Given the description of an element on the screen output the (x, y) to click on. 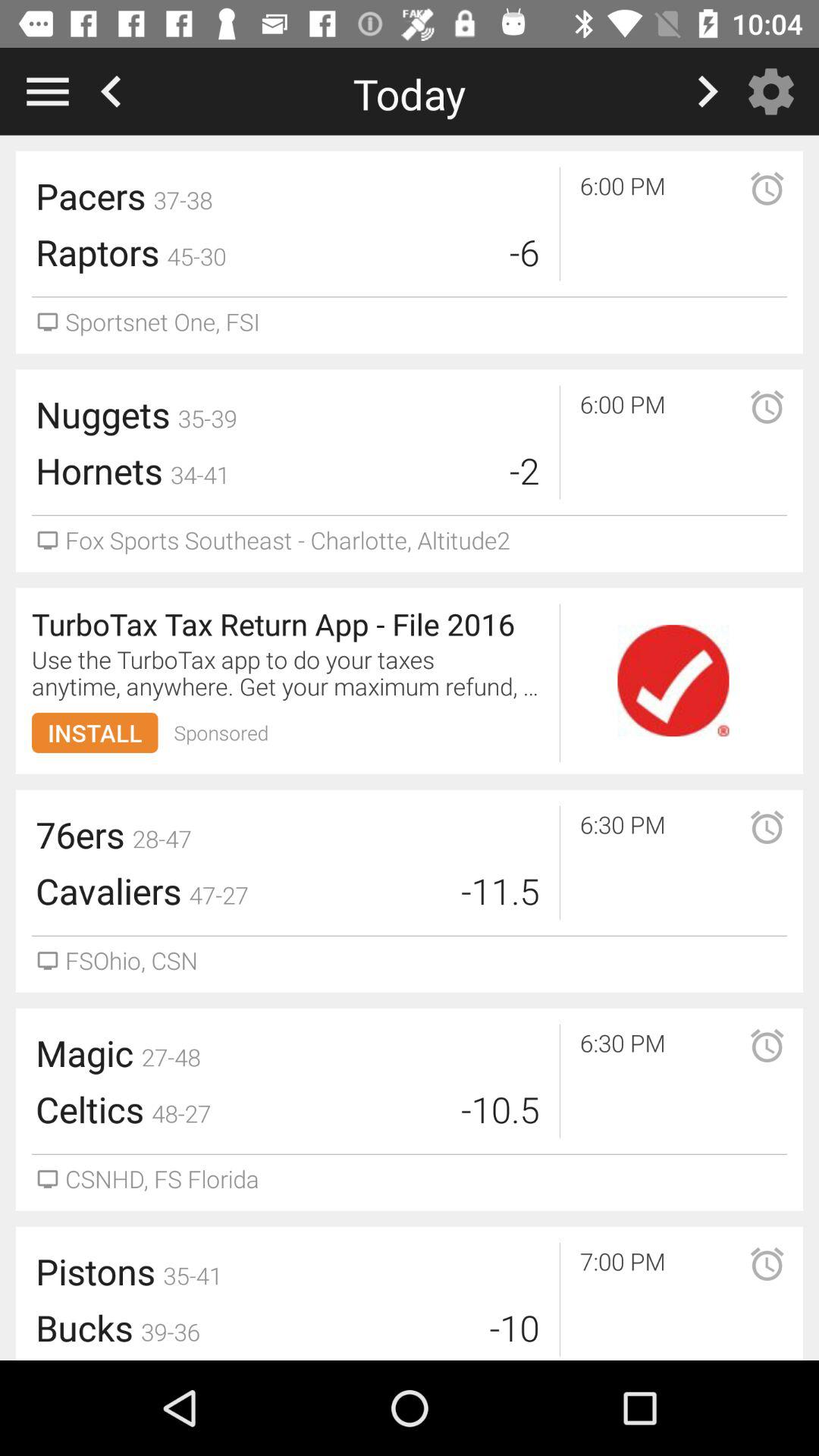
flip to the install icon (94, 732)
